Given the description of an element on the screen output the (x, y) to click on. 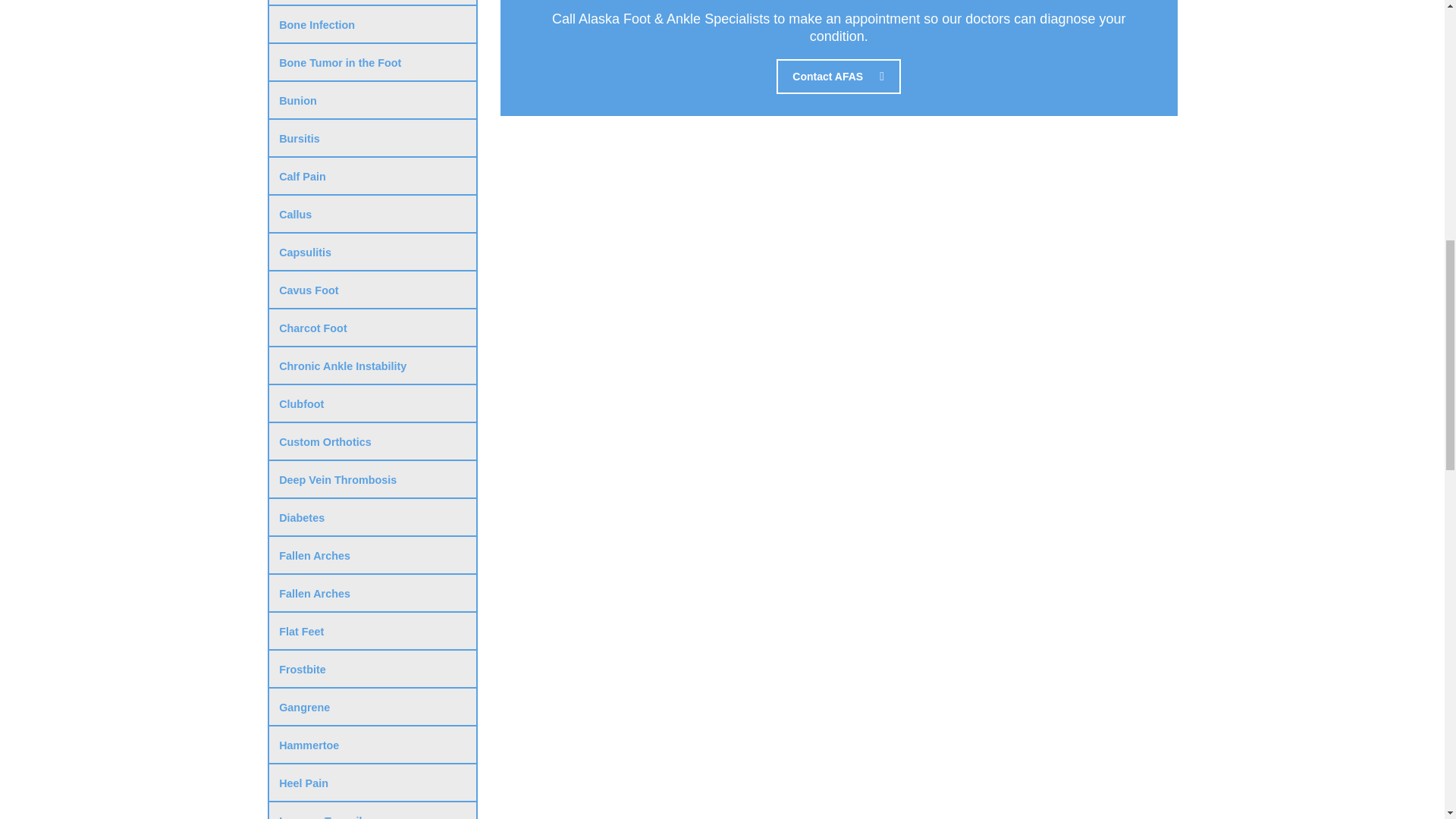
Bone Infection (371, 24)
Bursitis (371, 138)
Callus (371, 214)
Capsulitis (371, 252)
Bone Tumor in the Foot (371, 62)
Calf Pain (371, 176)
Bunion (371, 100)
